Given the description of an element on the screen output the (x, y) to click on. 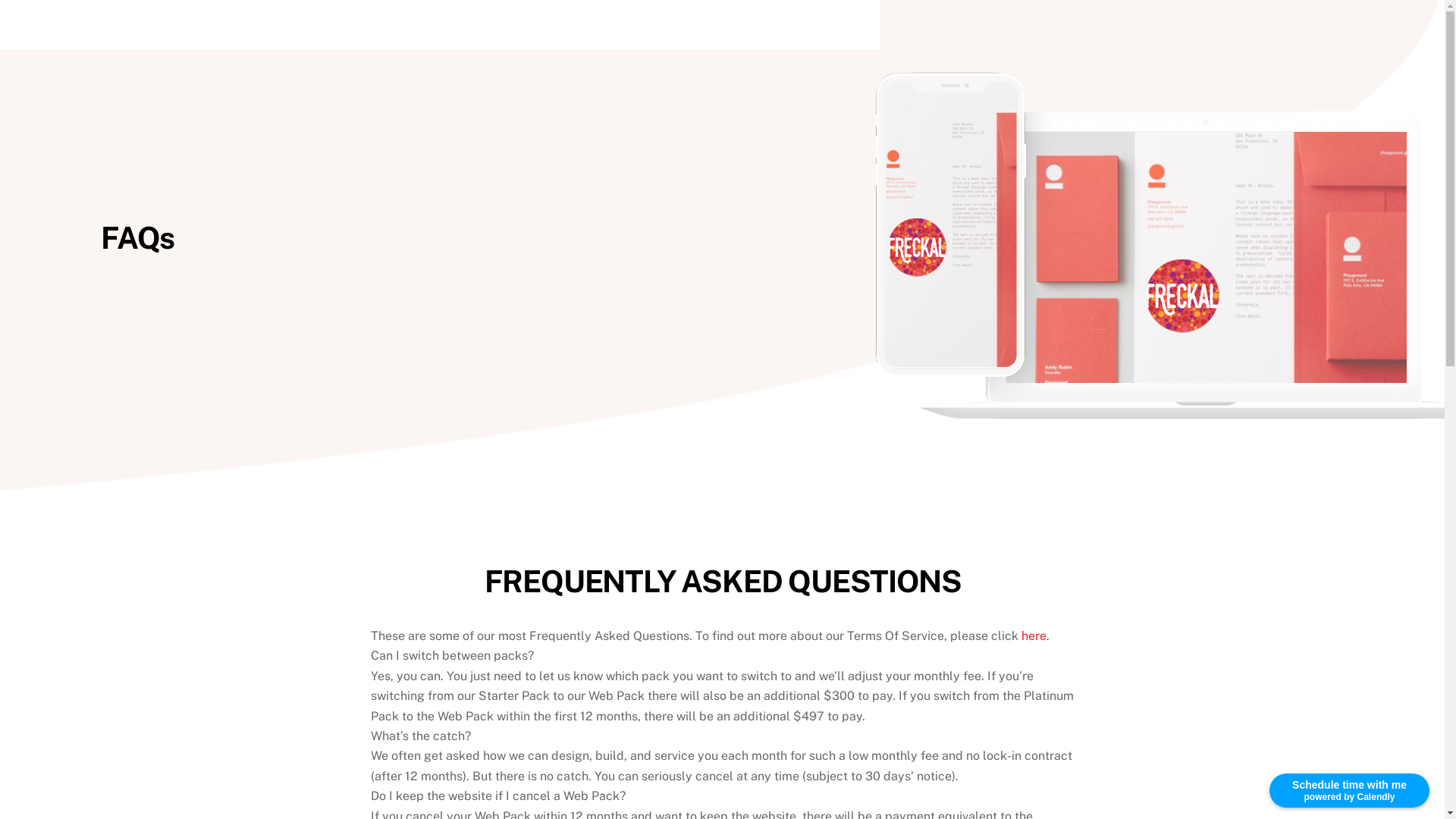
home-img-1 Element type: hover (1158, 245)
here Element type: text (1032, 635)
